Given the description of an element on the screen output the (x, y) to click on. 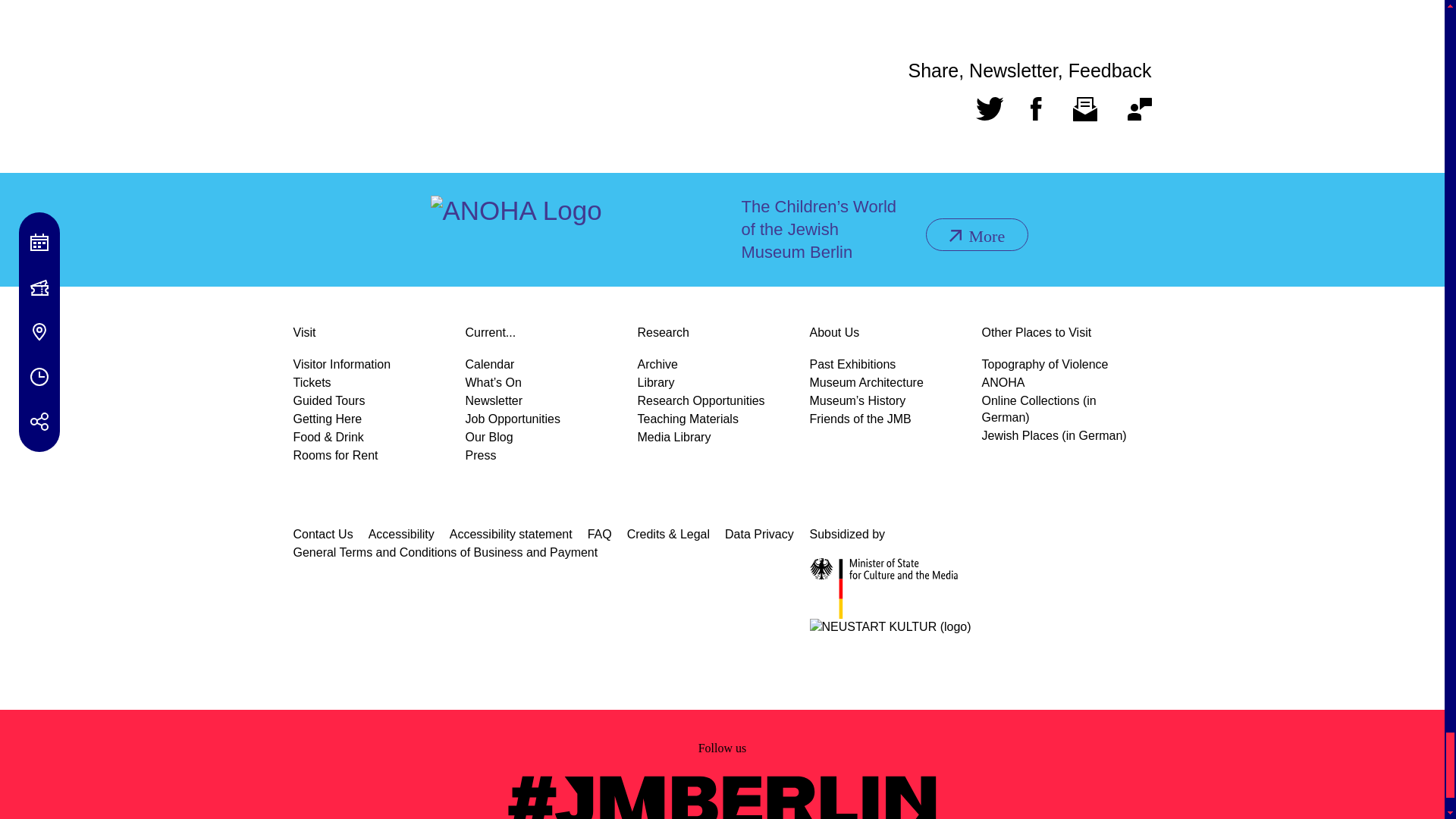
Subscribe to the newsletter (1083, 115)
Contact us (1138, 115)
Share on Twitter (989, 115)
